Given the description of an element on the screen output the (x, y) to click on. 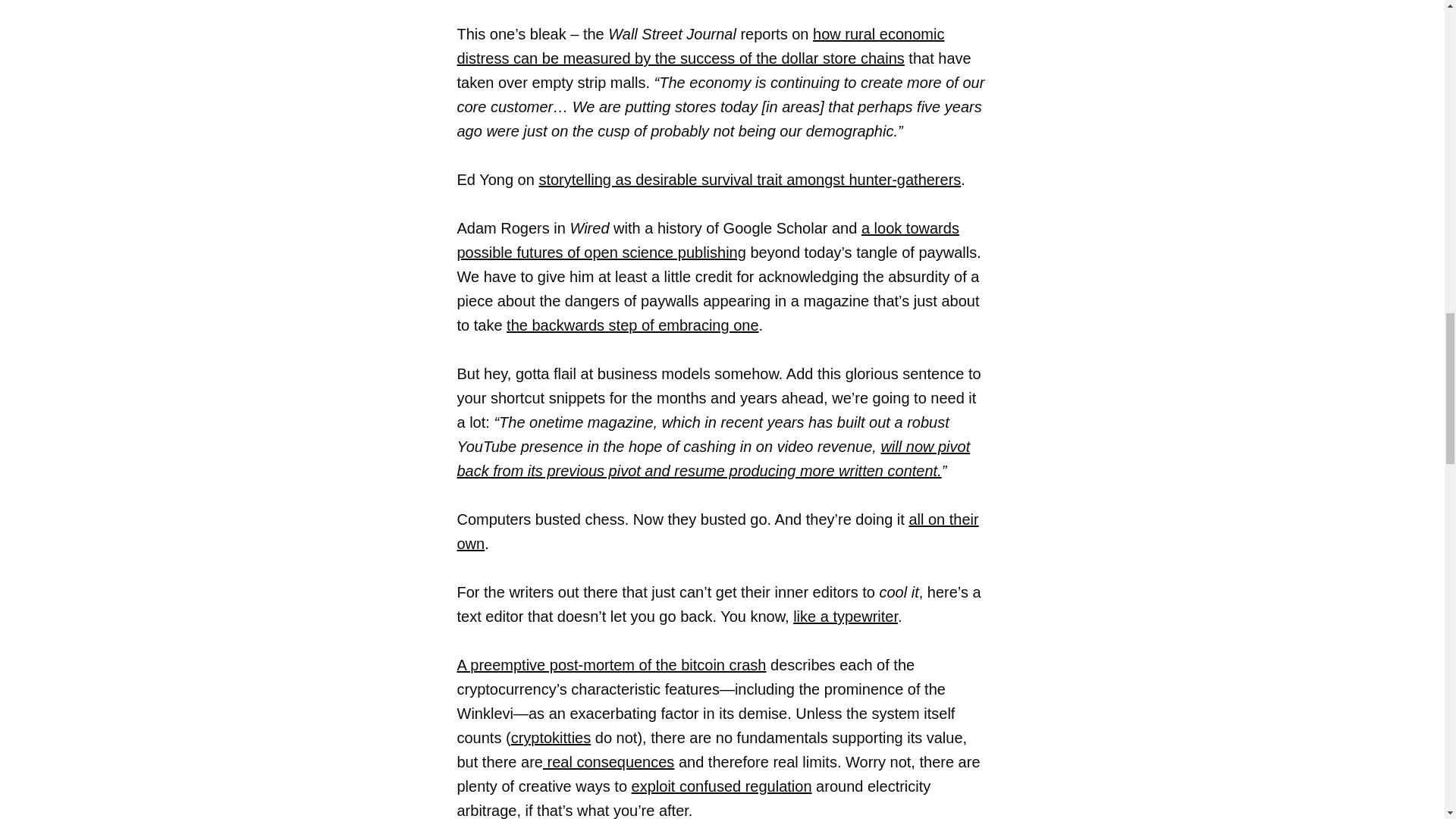
like a typewriter (845, 616)
all on their own (717, 531)
A preemptive post-mortem of the bitcoin crash (611, 664)
the backwards step of embracing one (632, 324)
real consequences (608, 761)
cryptokitties (551, 737)
a look towards possible futures of open science publishing (707, 240)
